Given the description of an element on the screen output the (x, y) to click on. 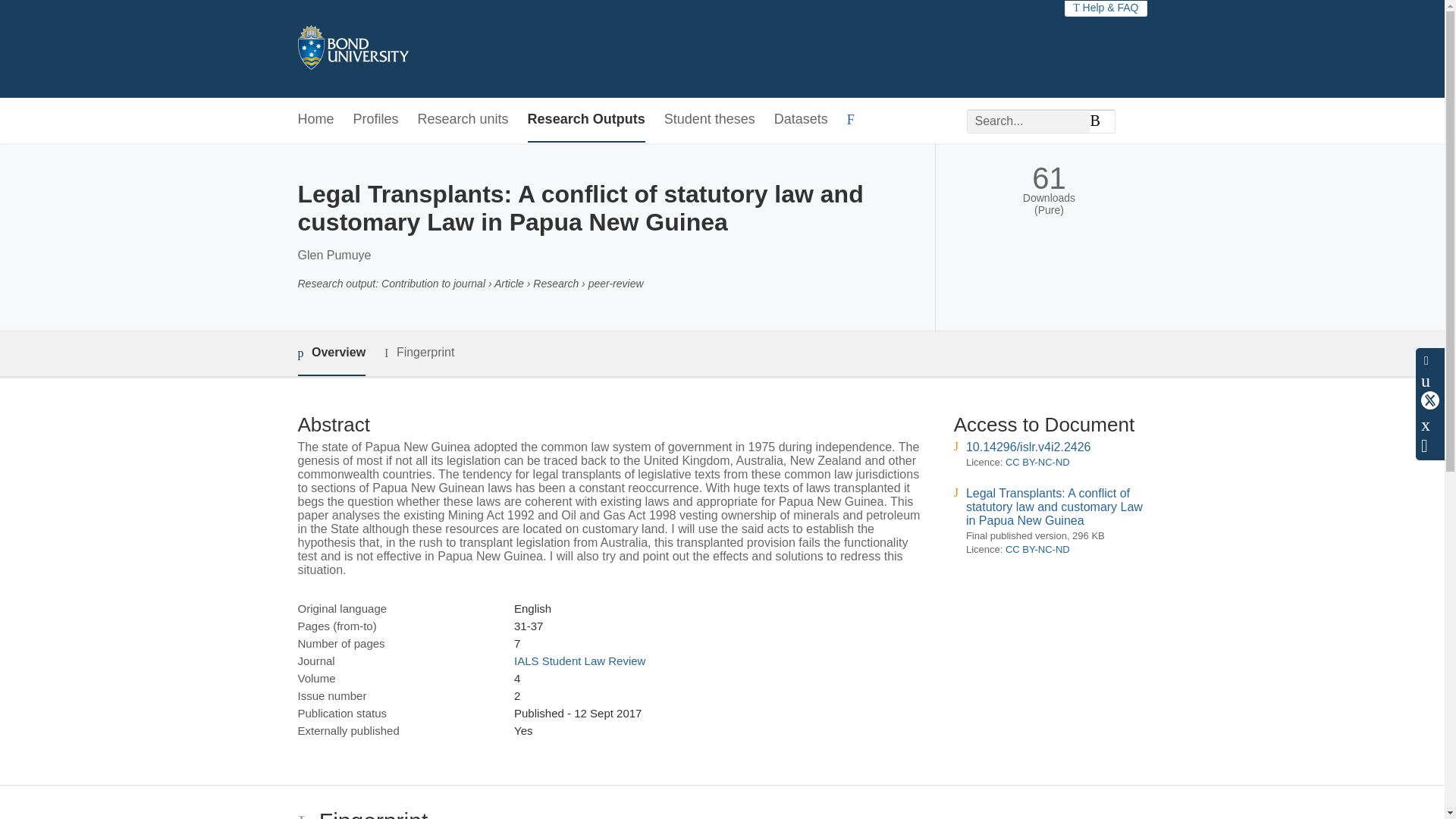
Research Outputs (586, 119)
Datasets (801, 119)
Fingerprint (419, 352)
Overview (331, 353)
Profiles (375, 119)
CC BY-NC-ND (1038, 461)
Research units (462, 119)
CC BY-NC-ND (1038, 549)
IALS Student Law Review (579, 660)
Bond University Research Portal Home (352, 48)
Student theses (709, 119)
